Given the description of an element on the screen output the (x, y) to click on. 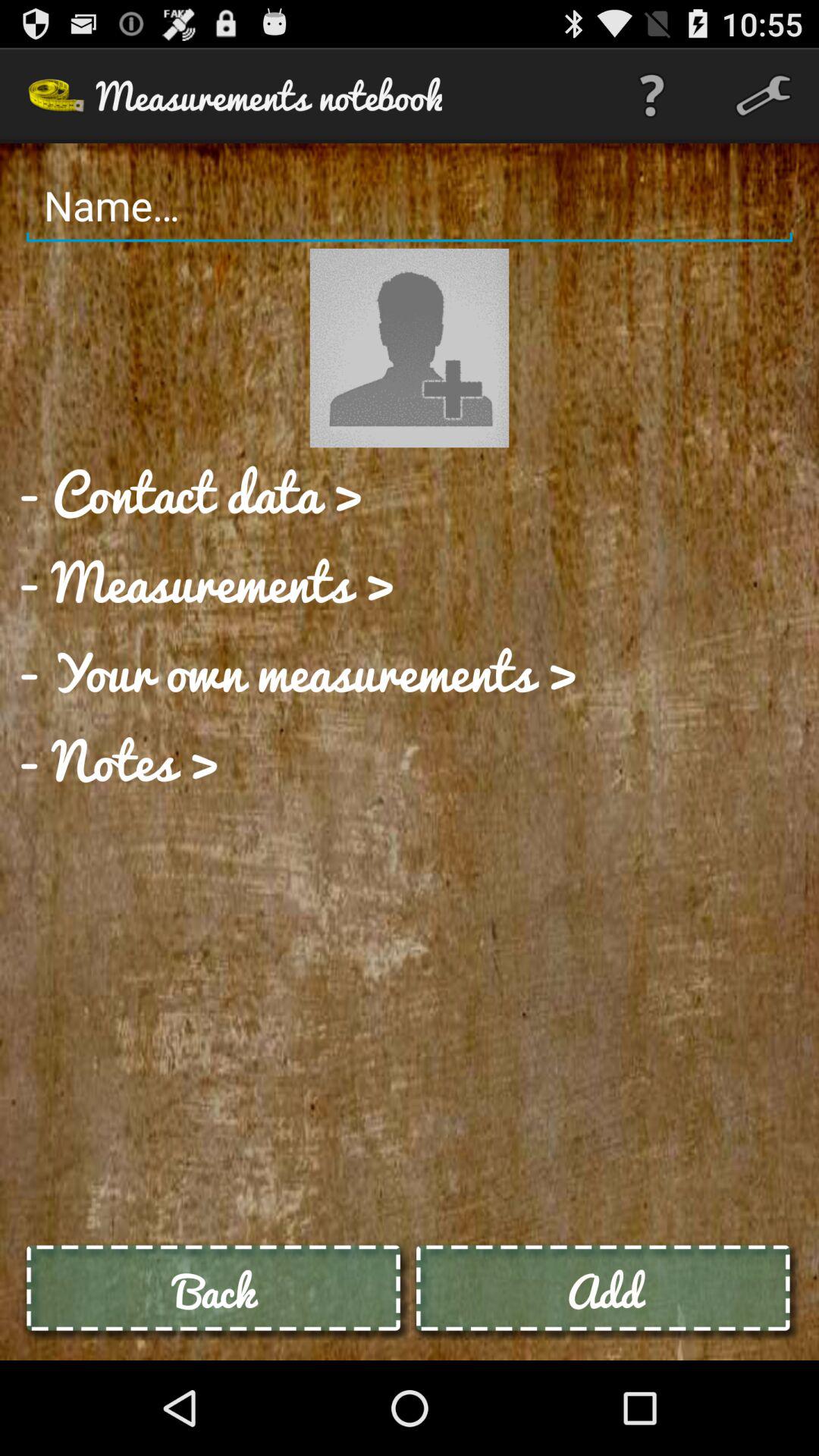
launch item to the left of the add icon (214, 1290)
